Given the description of an element on the screen output the (x, y) to click on. 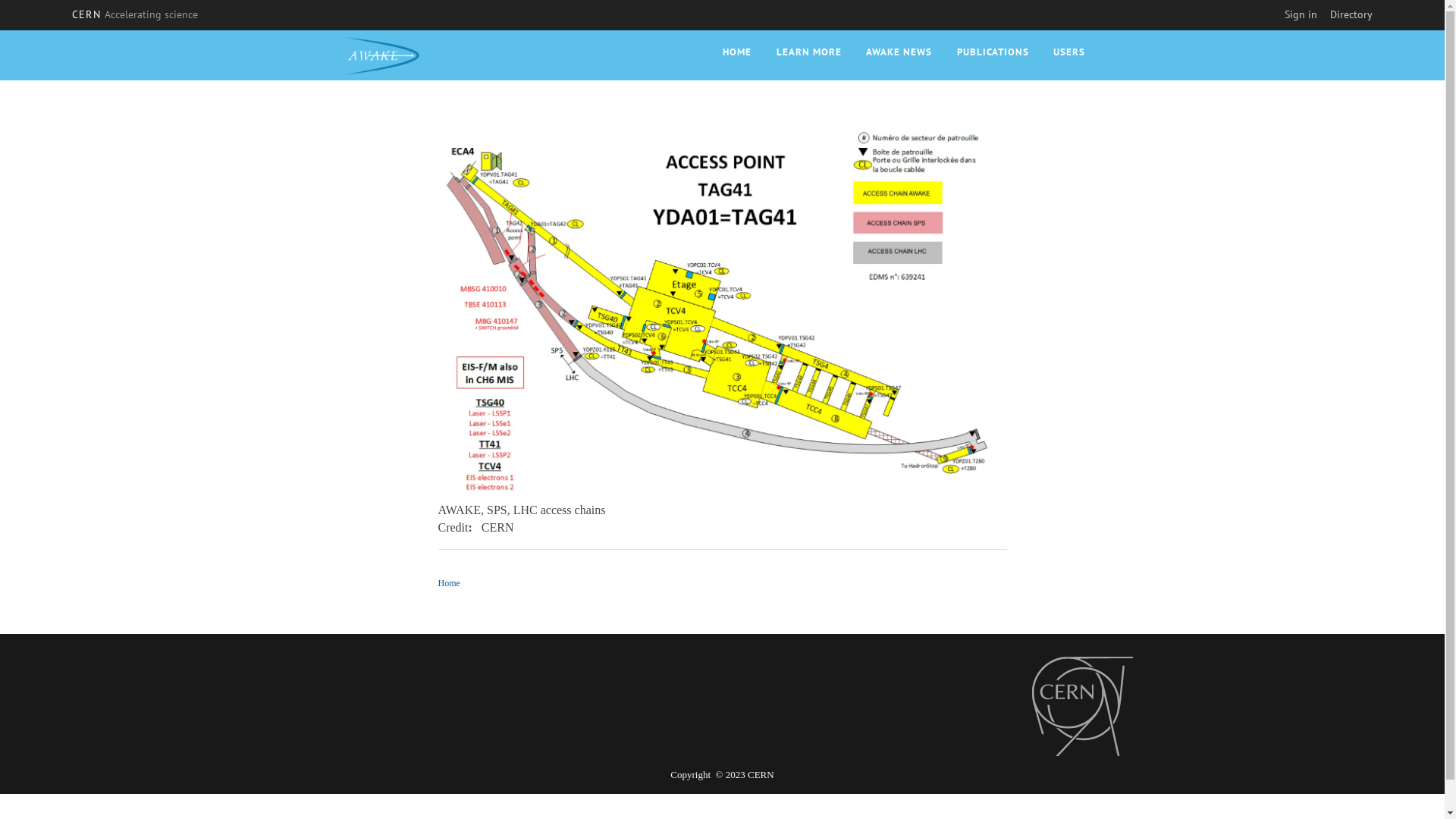
CERN Element type: hover (1082, 706)
PUBLICATIONS Element type: text (993, 51)
HOME Element type: text (737, 51)
Directory Element type: text (1351, 14)
Home Element type: text (449, 582)
CERN Accelerating science Element type: text (134, 14)
AWAKE NEWS Element type: text (899, 51)
Skip to main content Element type: text (0, 30)
Home Element type: hover (383, 52)
Sign in Element type: text (1300, 14)
USERS Element type: text (1069, 51)
Copyright Element type: text (691, 774)
LEARN MORE Element type: text (809, 51)
